Given the description of an element on the screen output the (x, y) to click on. 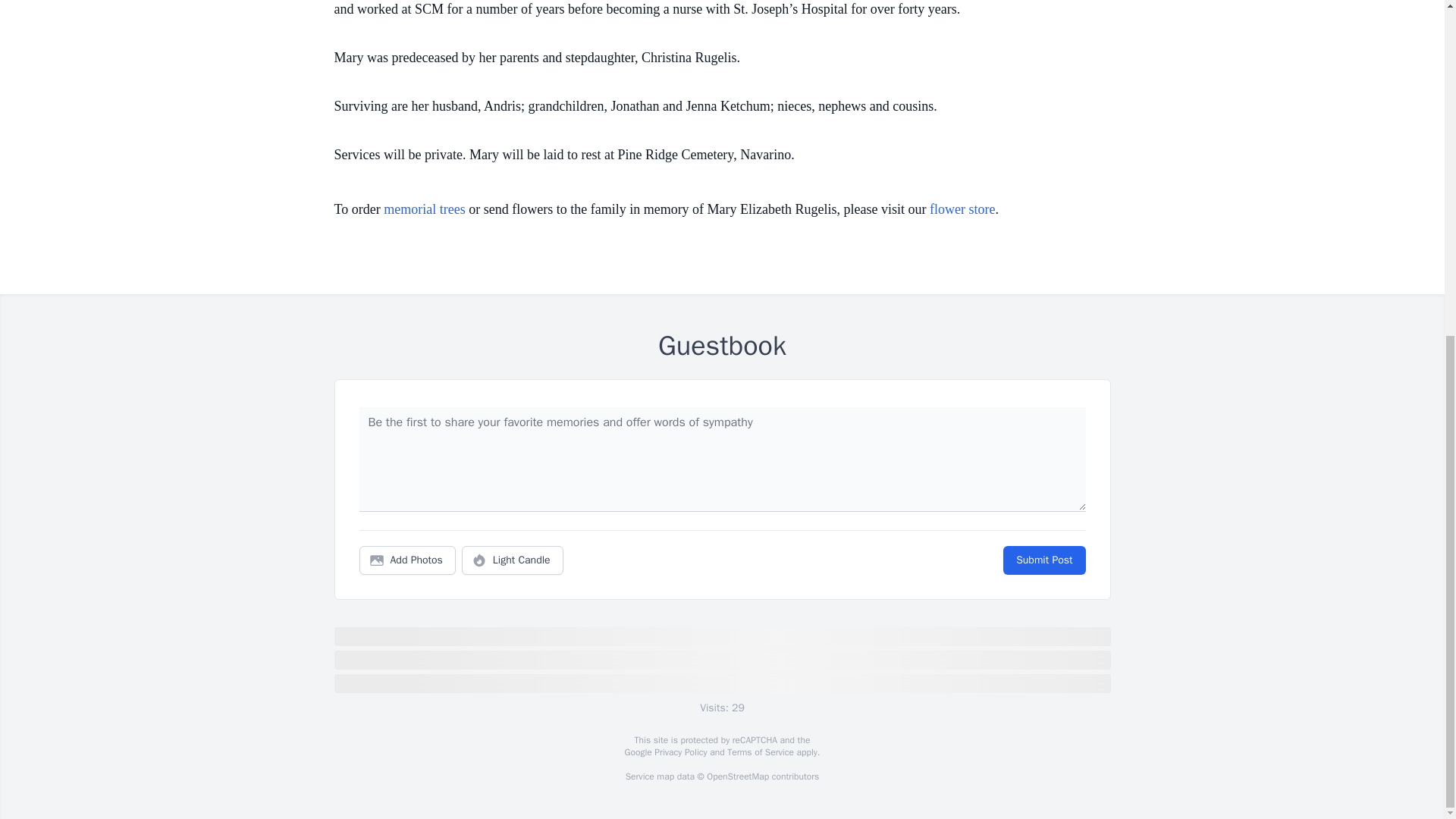
Light Candle (512, 560)
OpenStreetMap (737, 776)
memorial trees (424, 209)
Terms of Service (759, 752)
Privacy Policy (679, 752)
flower store (962, 209)
Submit Post (1043, 560)
Add Photos (407, 560)
